Given the description of an element on the screen output the (x, y) to click on. 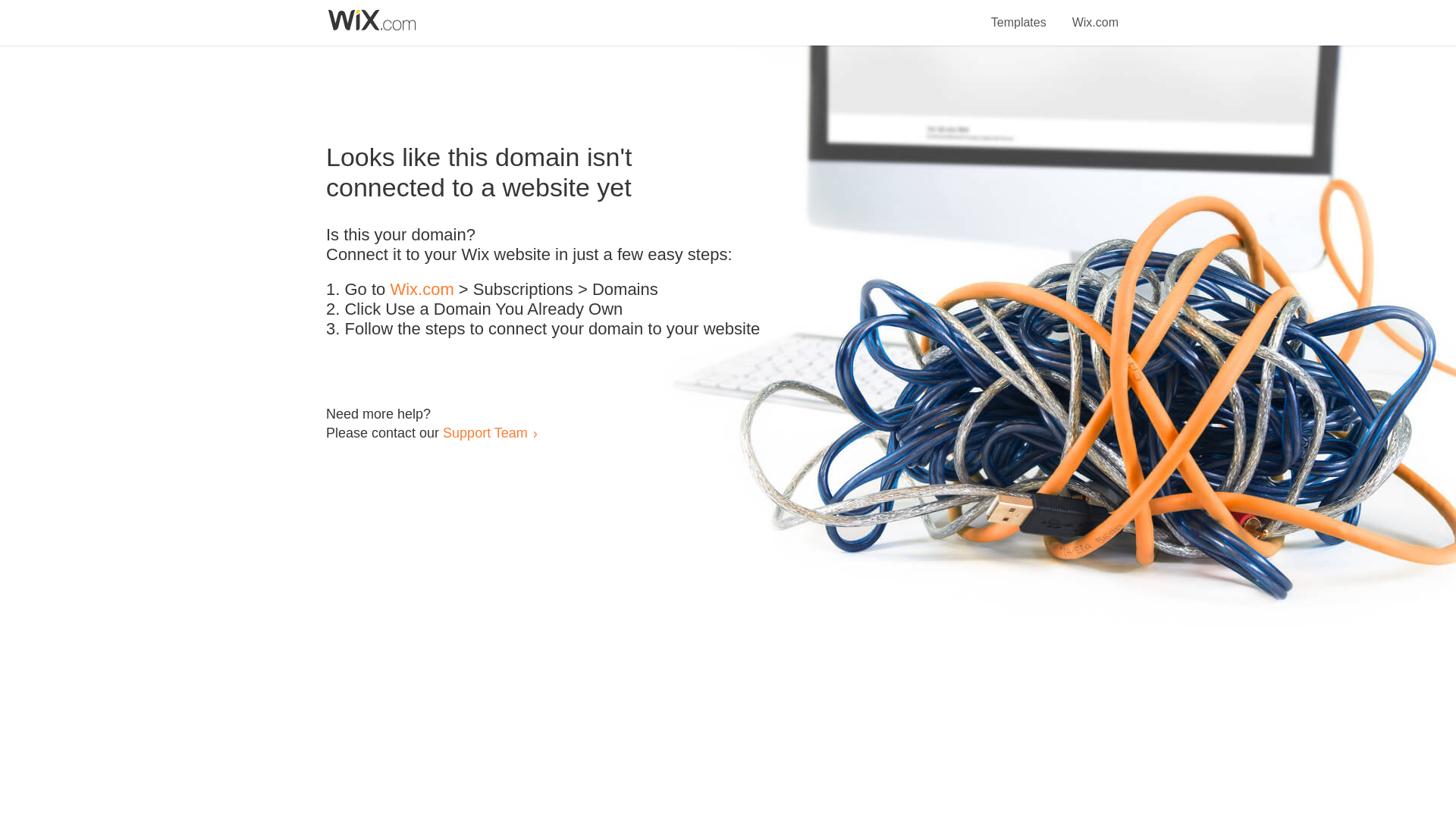
Wix.com (421, 289)
Wix.com (1095, 14)
Support Team (484, 432)
Templates (1018, 14)
